Given the description of an element on the screen output the (x, y) to click on. 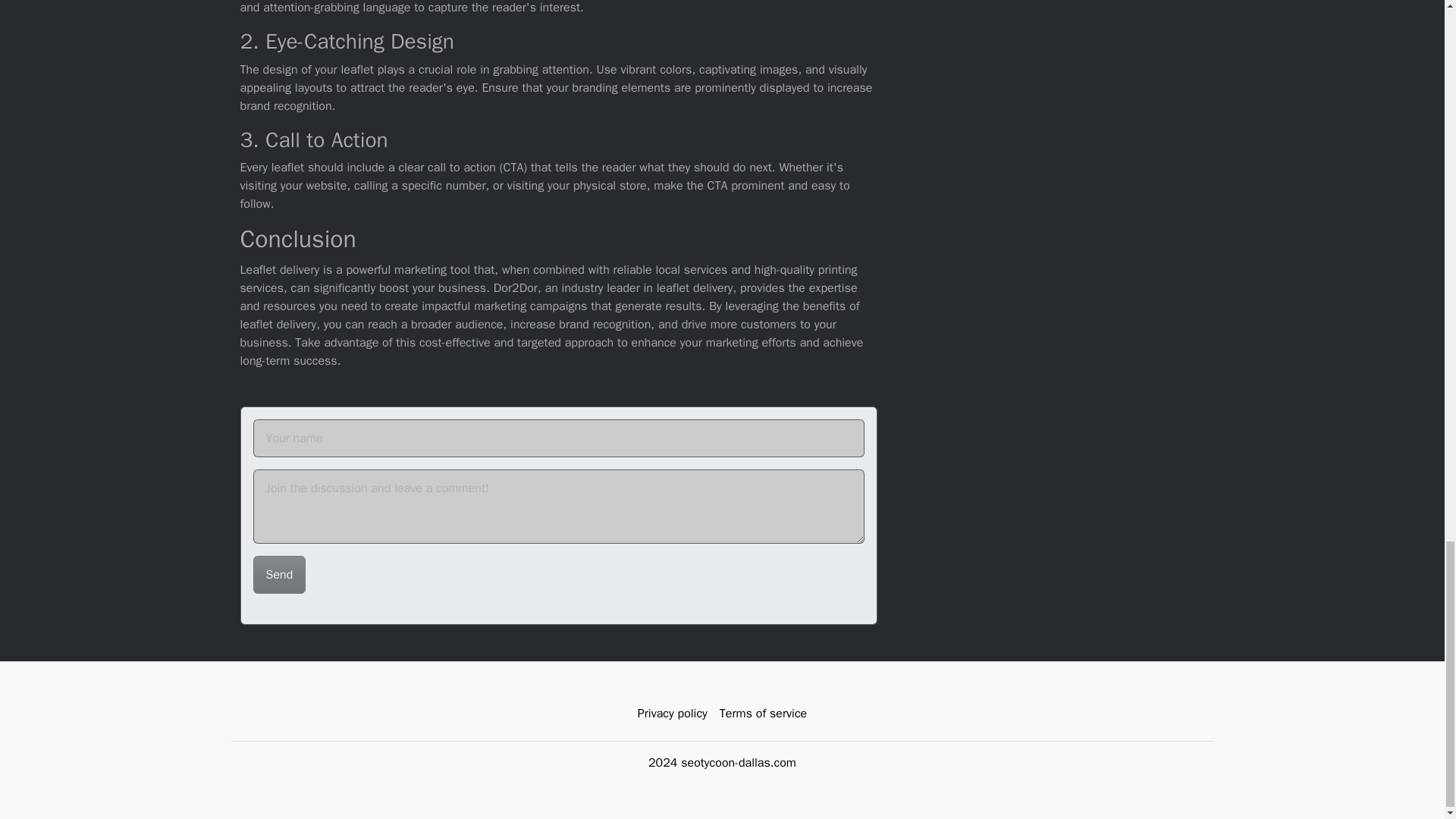
Send (279, 573)
Terms of service (762, 712)
Send (279, 573)
Privacy policy (672, 712)
